Given the description of an element on the screen output the (x, y) to click on. 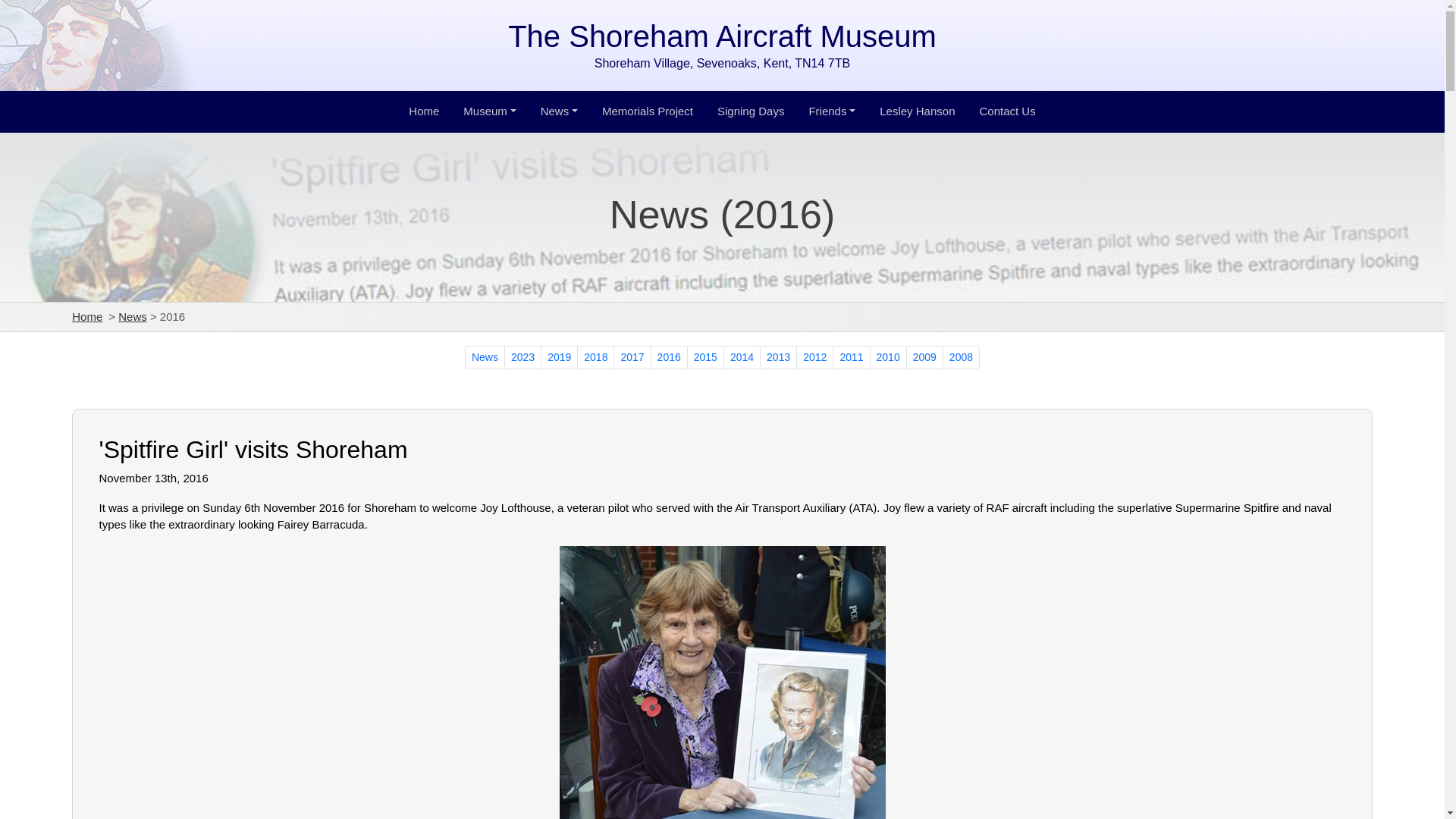
News (484, 357)
Memorials Project (646, 111)
Home (424, 111)
Friends (831, 111)
Signing Days (750, 111)
News (558, 111)
2023 (522, 357)
Museum (489, 111)
Lesley Hanson (916, 111)
Home (86, 316)
News (132, 316)
2019 (559, 357)
Contact Us (1006, 111)
